Given the description of an element on the screen output the (x, y) to click on. 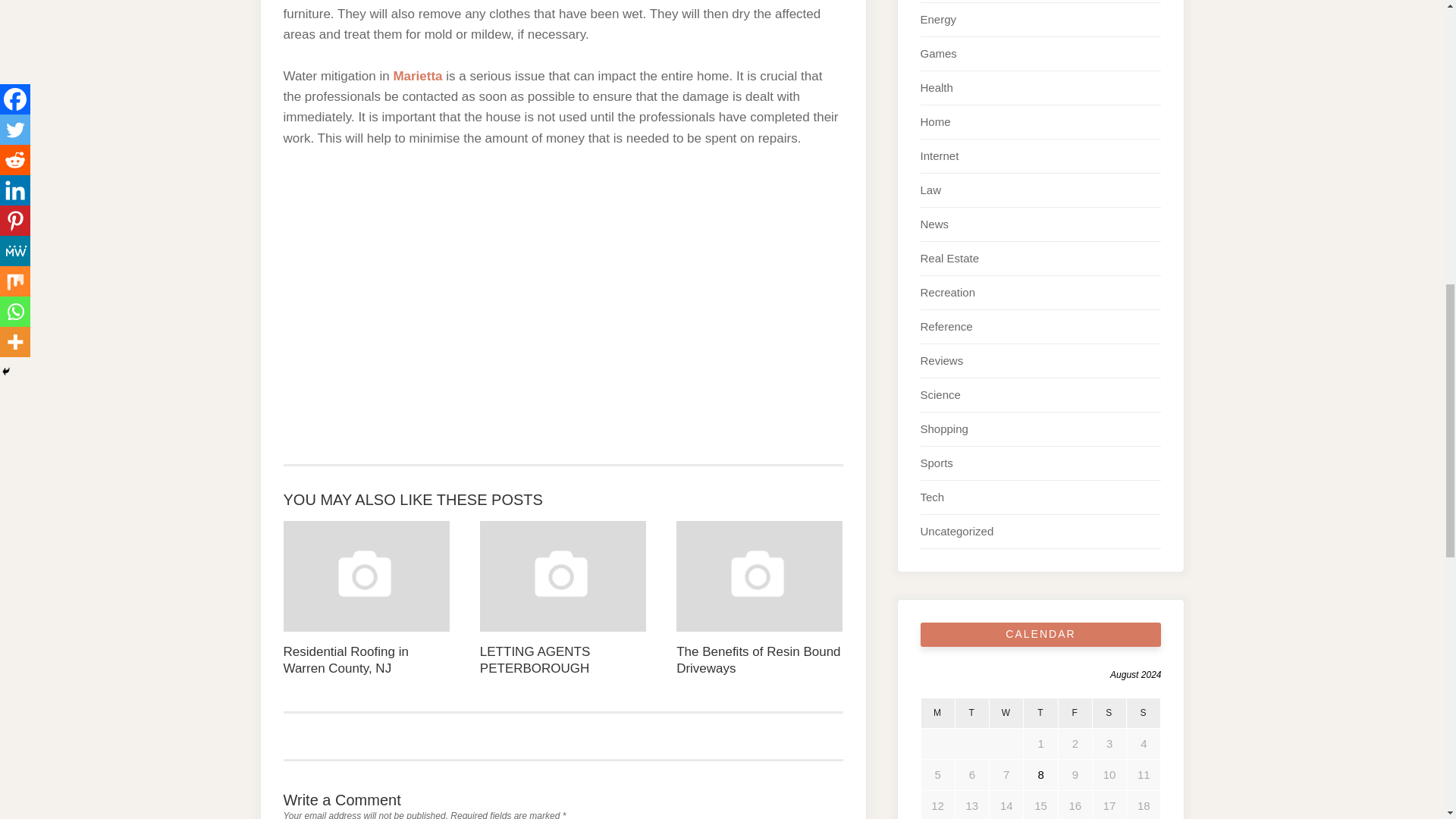
The Benefits of Resin Bound Driveways (760, 598)
Residential Roofing in Warren County, NJ (366, 598)
Marietta (417, 75)
LETTING AGENTS PETERBOROUGH (563, 598)
